Given the description of an element on the screen output the (x, y) to click on. 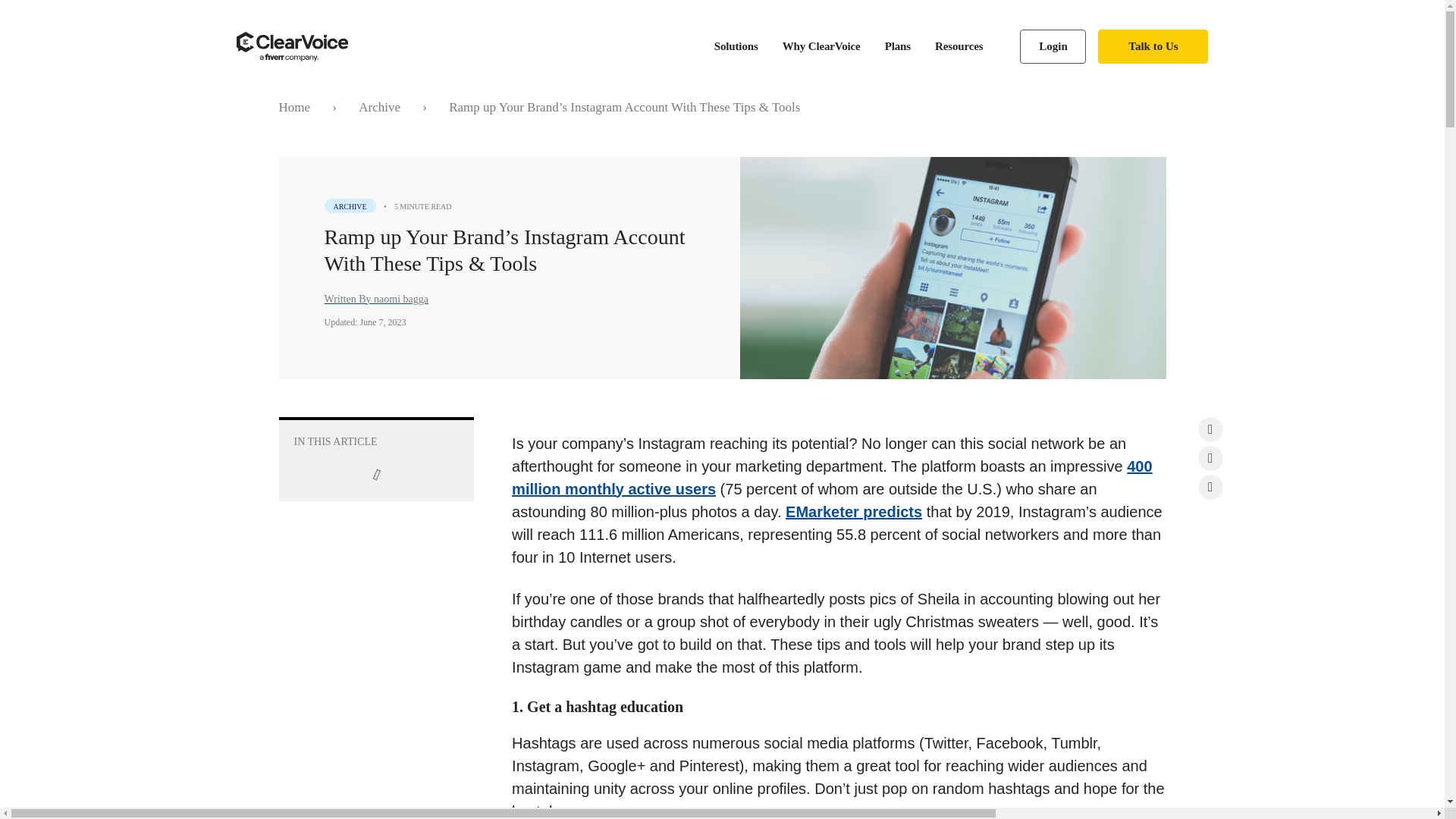
Resources (959, 46)
Why ClearVoice (821, 46)
Login (1053, 46)
Talk to Us (1152, 46)
Solutions (736, 46)
